Given the description of an element on the screen output the (x, y) to click on. 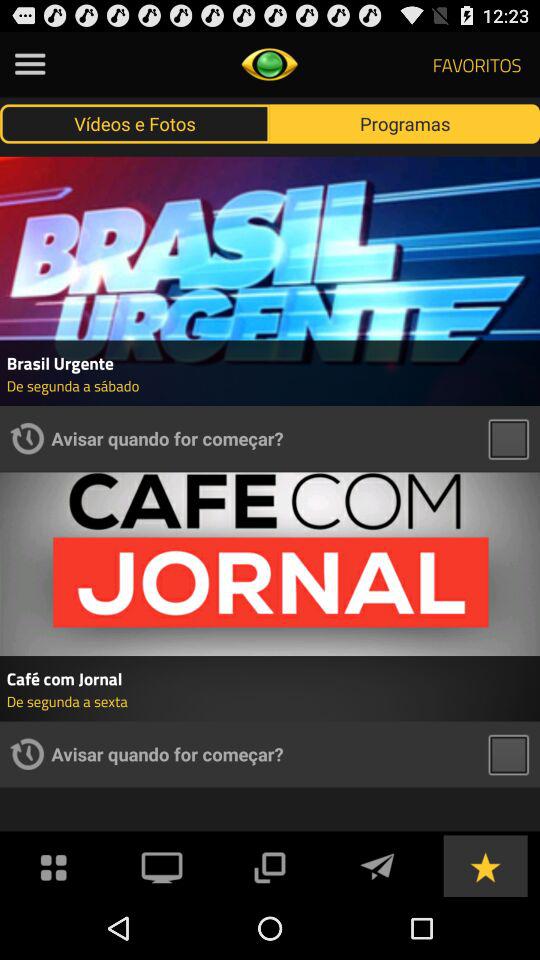
launch app below avisar quando for (162, 864)
